Given the description of an element on the screen output the (x, y) to click on. 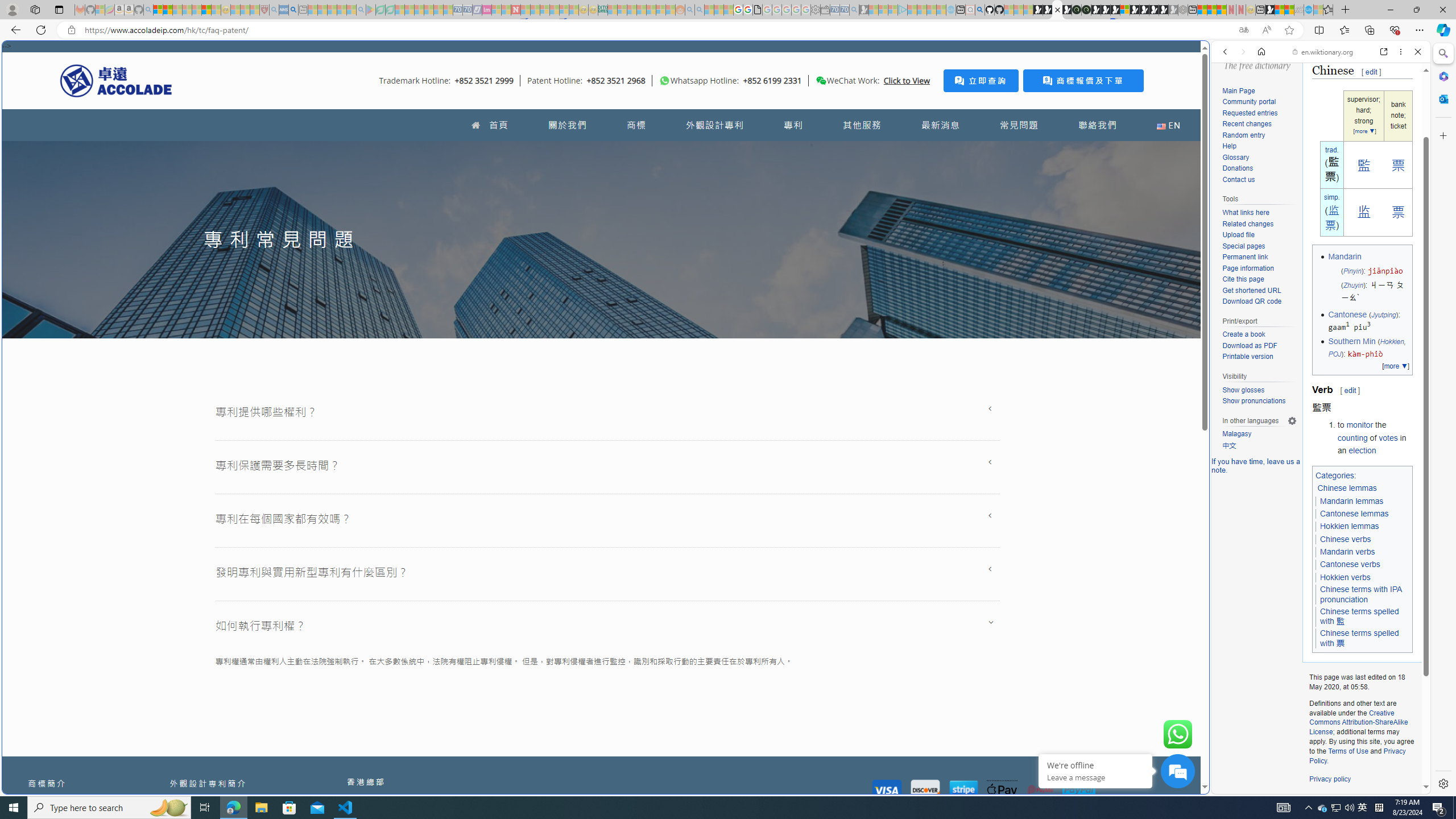
Open link in new tab (1383, 51)
Upload file (1259, 235)
If you have time, leave us a note. (1255, 465)
IMAGES (1262, 130)
Main Page (1259, 91)
